Given the description of an element on the screen output the (x, y) to click on. 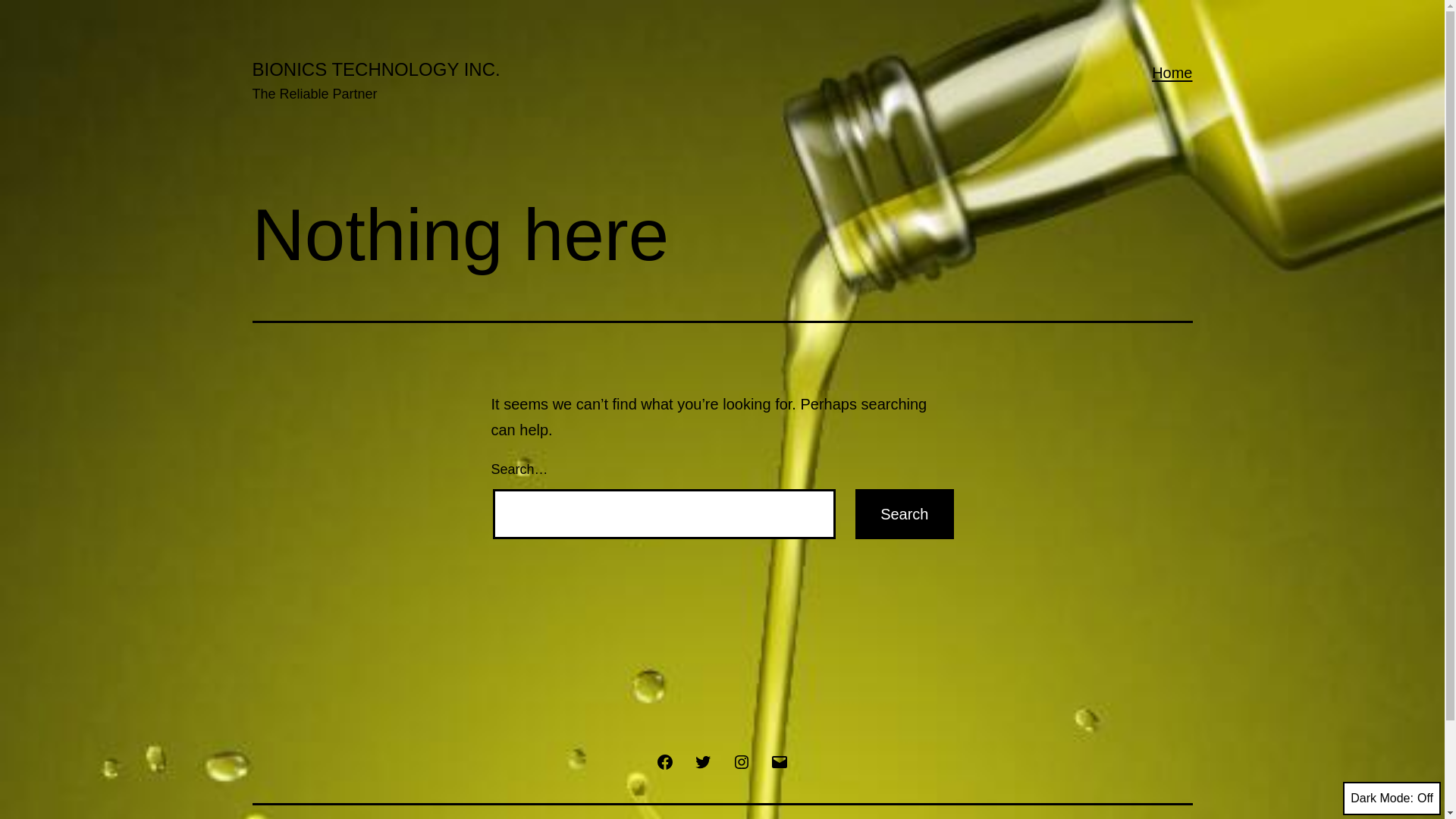
Facebook Element type: text (665, 761)
Instagram Element type: text (740, 761)
Dark Mode: Element type: text (1391, 798)
Home Element type: text (1172, 72)
Email Element type: text (779, 761)
Twitter Element type: text (702, 761)
Search Element type: text (904, 514)
